Given the description of an element on the screen output the (x, y) to click on. 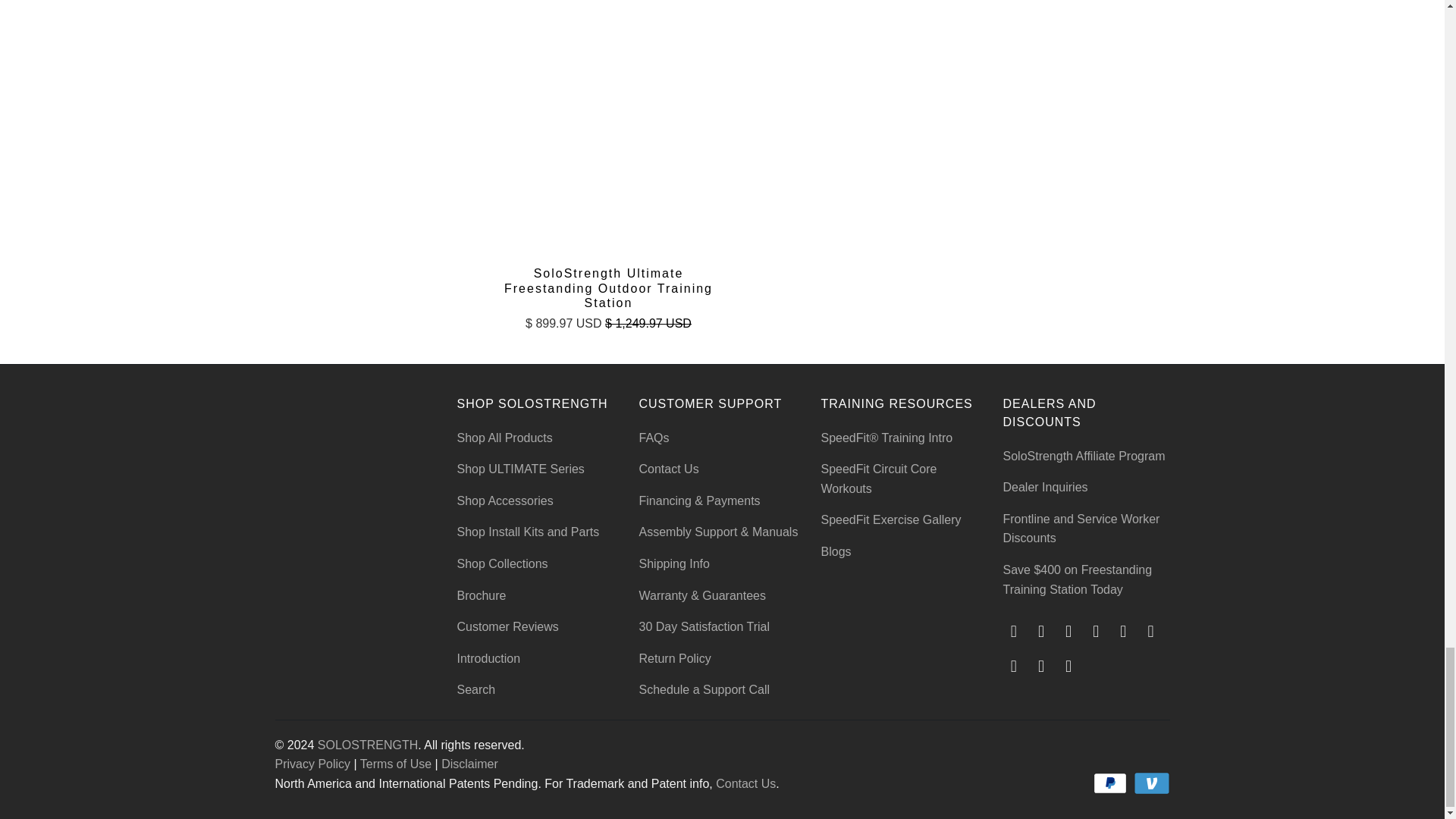
PayPal (1111, 783)
Venmo (1150, 783)
